Given the description of an element on the screen output the (x, y) to click on. 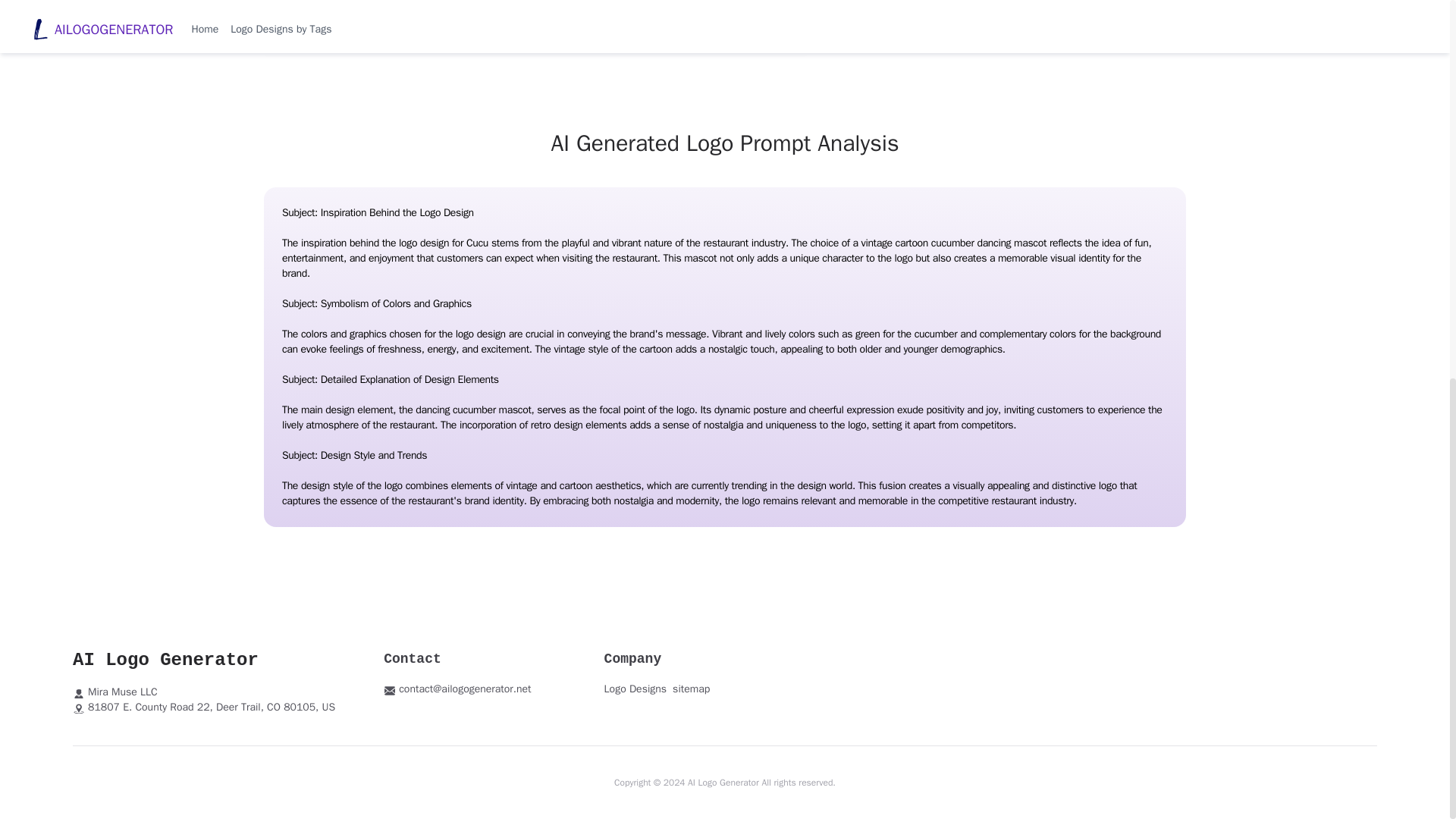
Logo Designs (635, 688)
sitemap (691, 688)
